Given the description of an element on the screen output the (x, y) to click on. 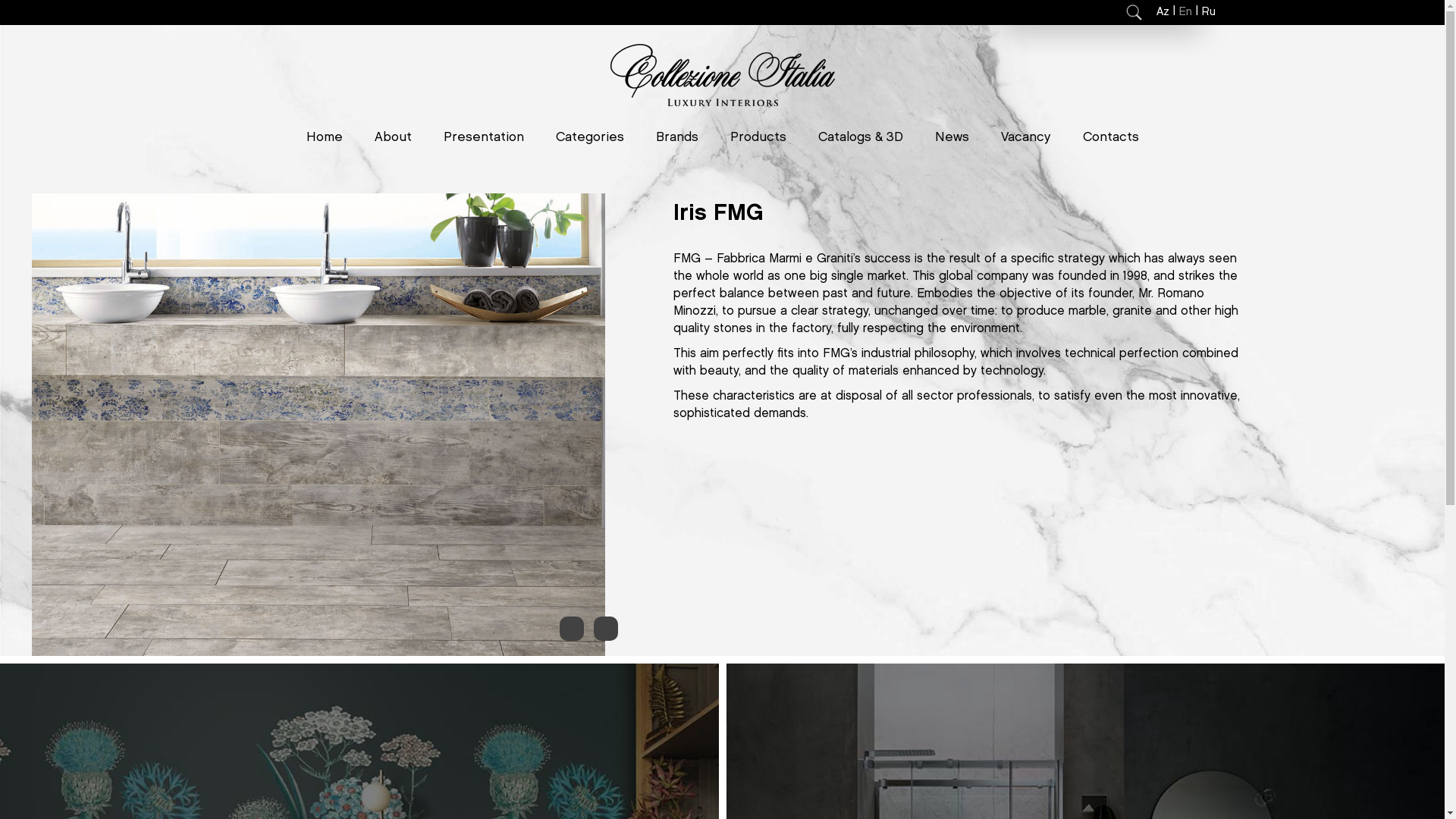
Ru Element type: text (1207, 11)
Az Element type: text (1161, 11)
Brands Element type: text (676, 137)
Contacts Element type: text (1110, 137)
En Element type: text (1184, 11)
Home Element type: text (324, 137)
News Element type: text (951, 137)
Presentation Element type: text (482, 137)
Vacancy Element type: text (1026, 137)
Products Element type: text (757, 137)
Catalogs & 3D Element type: text (859, 137)
About Element type: text (392, 137)
Categories Element type: text (589, 137)
